Given the description of an element on the screen output the (x, y) to click on. 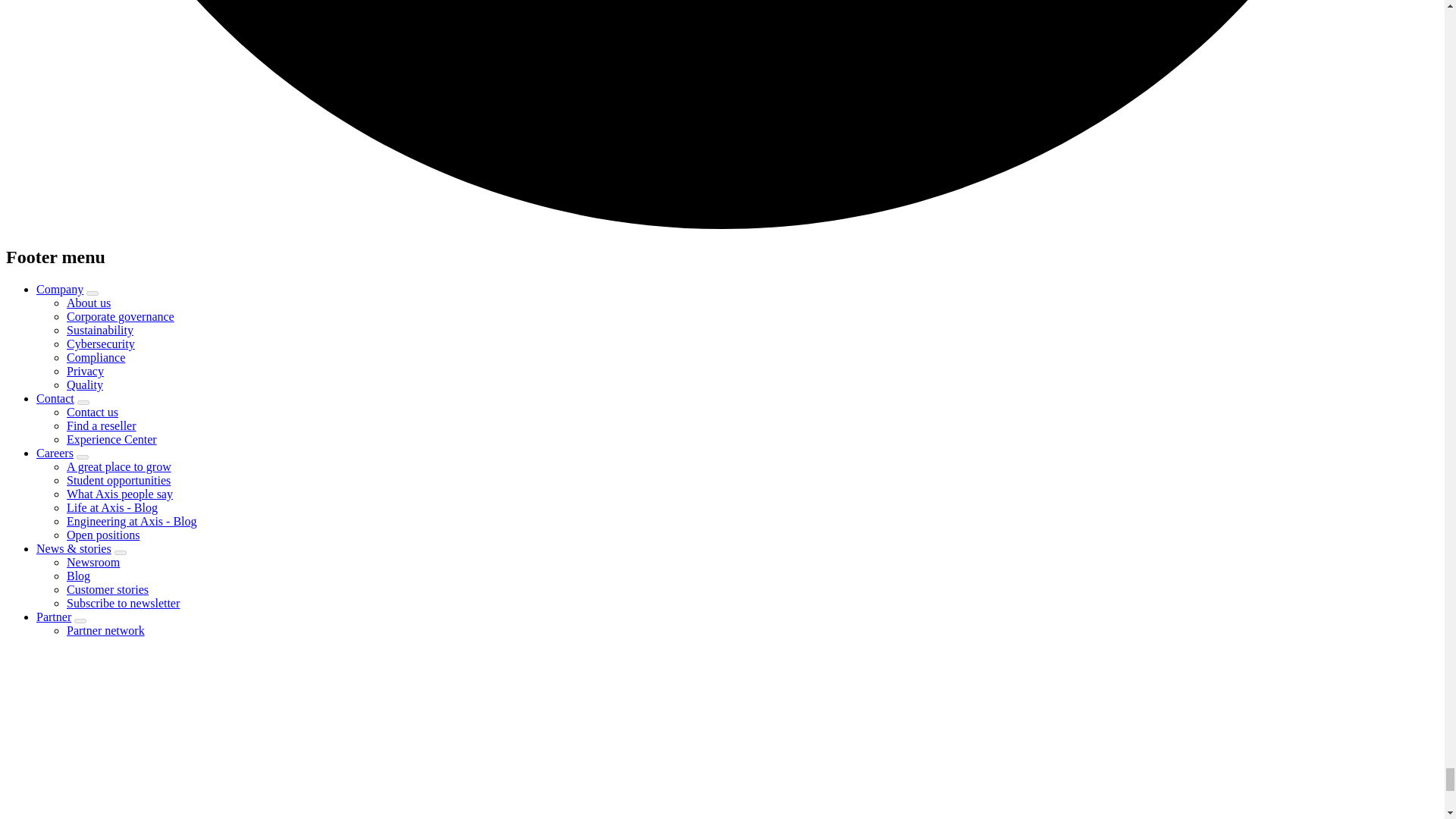
Compliance (95, 357)
